Given the description of an element on the screen output the (x, y) to click on. 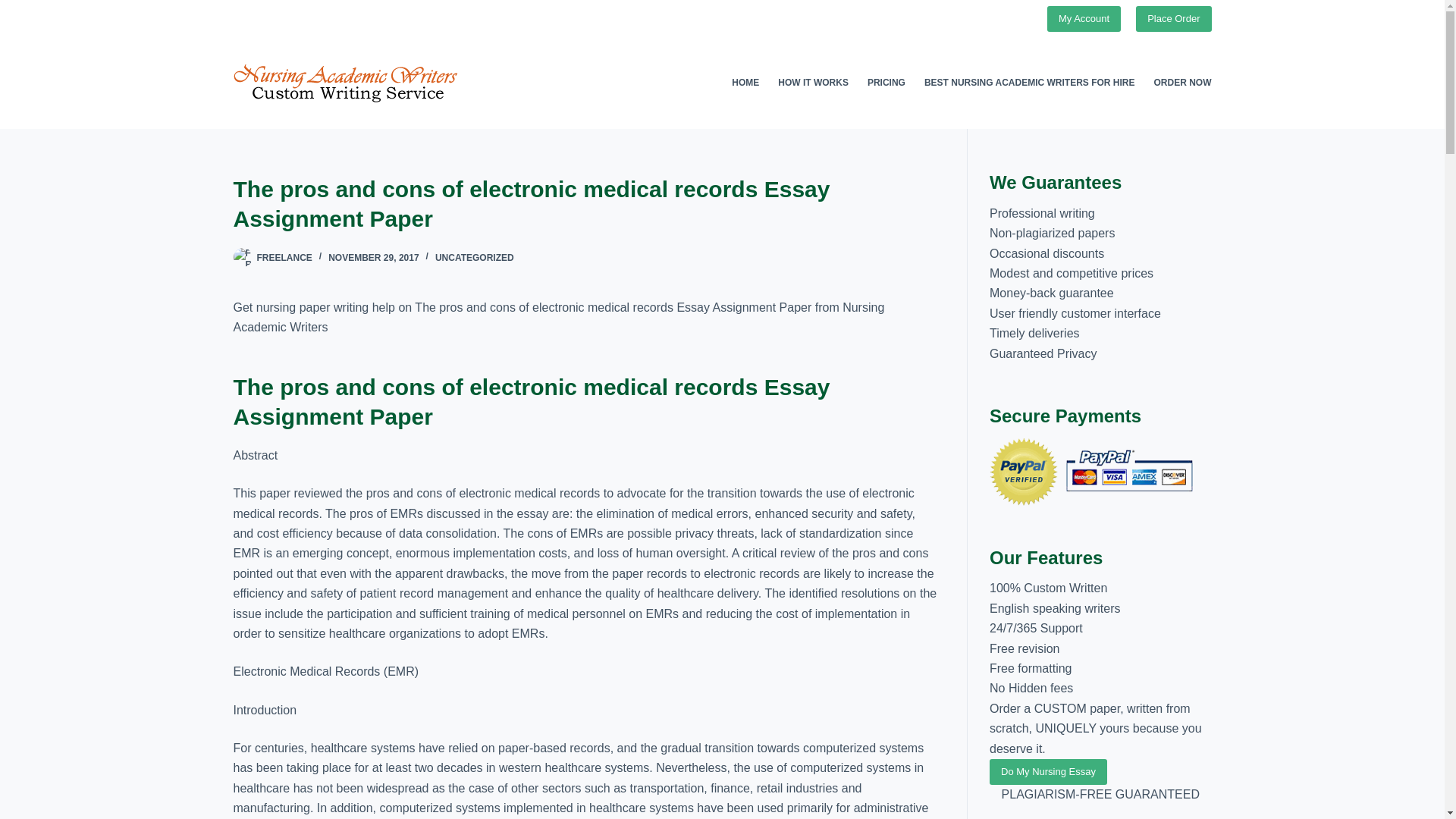
FREELANCE (283, 257)
My Account (1083, 18)
BEST NURSING ACADEMIC WRITERS FOR HIRE (1029, 82)
Place Order (1173, 18)
Do My Nursing Essay (1048, 771)
Posts by freelance (283, 257)
UNCATEGORIZED (474, 257)
HOW IT WORKS (813, 82)
Skip to content (15, 7)
